Given the description of an element on the screen output the (x, y) to click on. 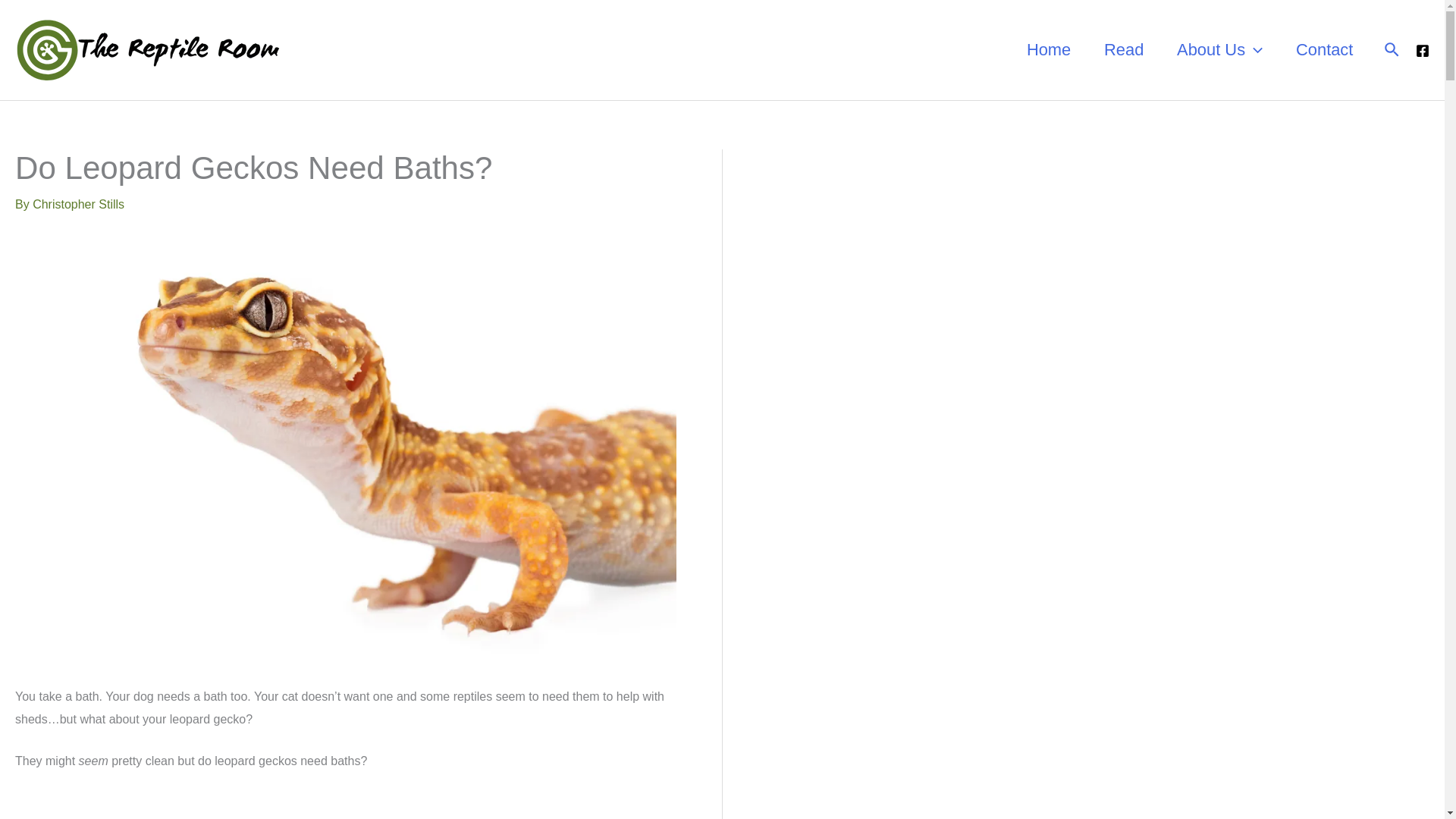
Contact (1324, 49)
About Us (1219, 49)
View all posts by Christopher Stills (77, 204)
Christopher Stills (77, 204)
Read (1123, 49)
Home (1048, 49)
